Given the description of an element on the screen output the (x, y) to click on. 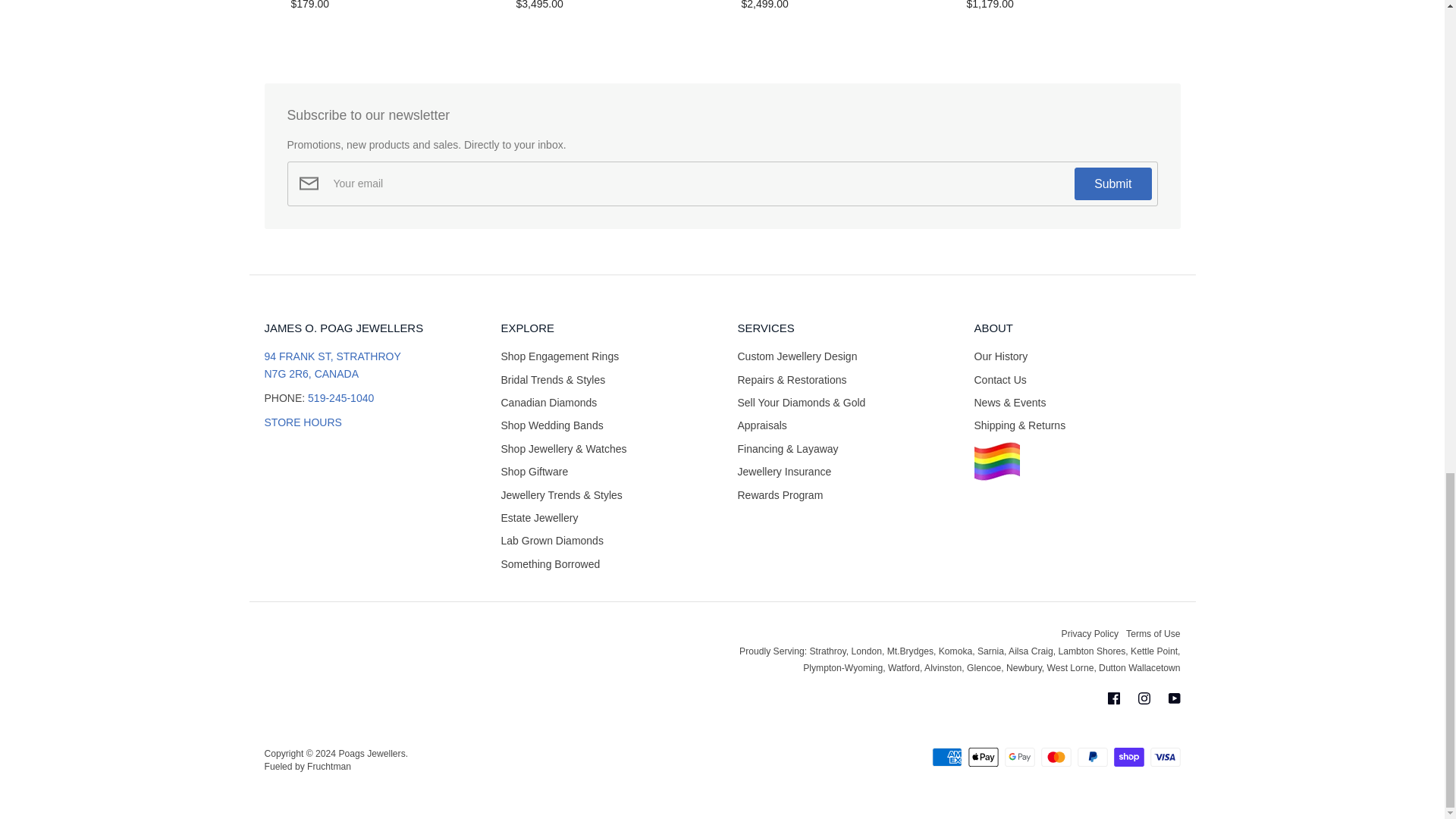
Shop Pay (1128, 756)
Contact Us (301, 422)
American Express (946, 756)
tel:5192451040 (340, 398)
Apple Pay (983, 756)
Visa (1164, 756)
Google Pay (1019, 756)
Mastercard (1056, 756)
PayPal (1092, 756)
